Given the description of an element on the screen output the (x, y) to click on. 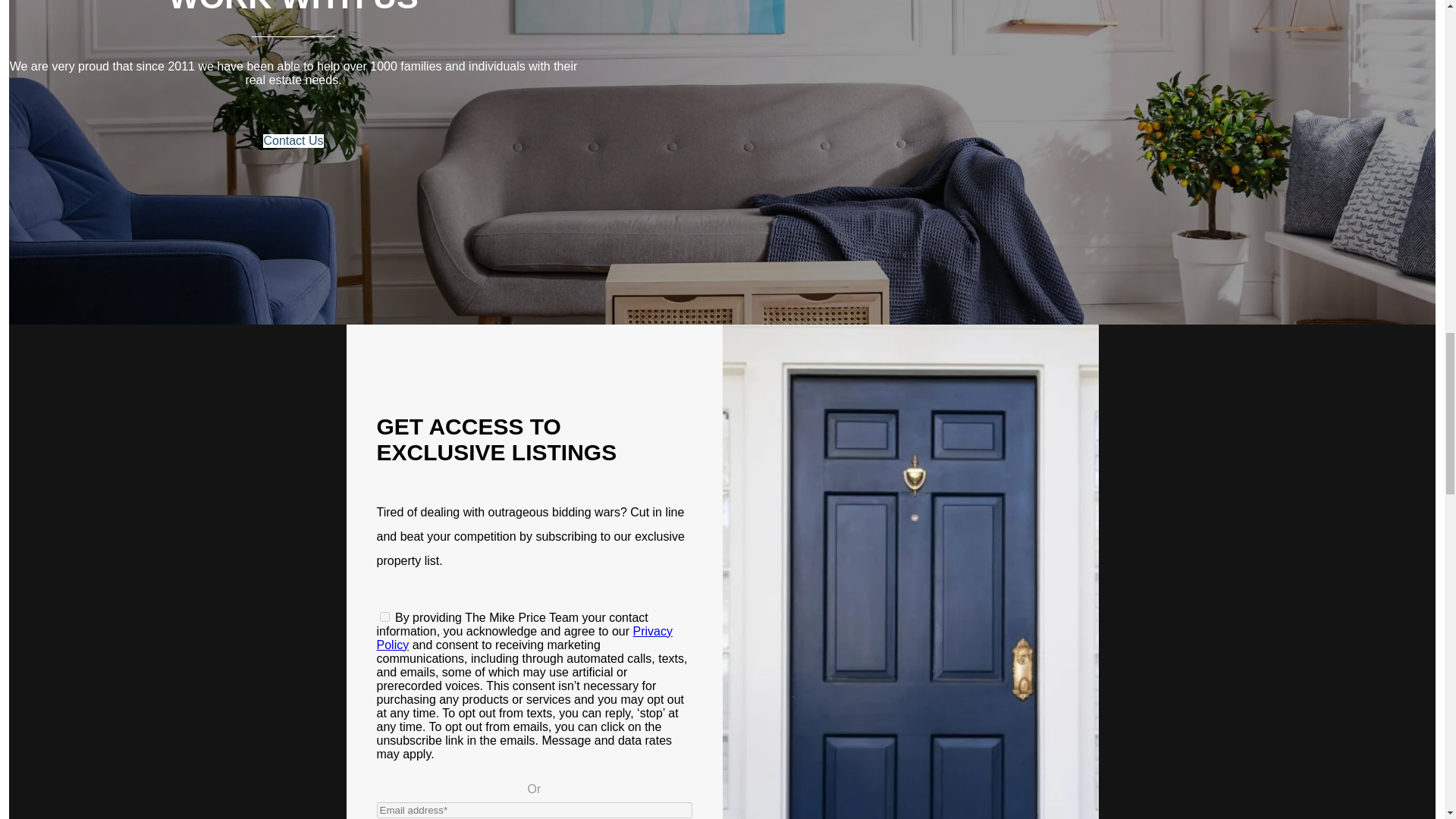
Contact Us (293, 141)
on (383, 616)
